Given the description of an element on the screen output the (x, y) to click on. 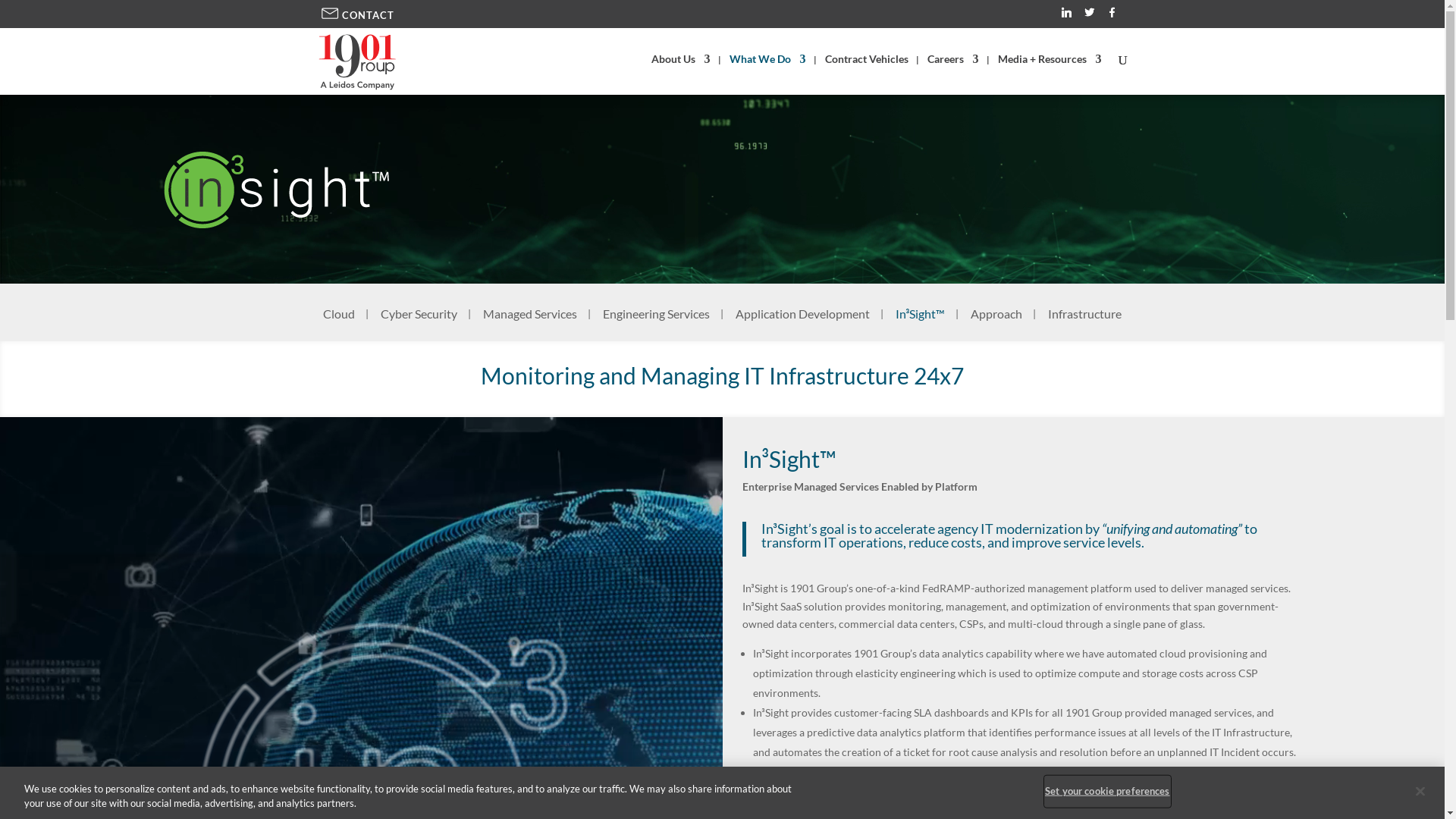
Cloud     Element type: text (343, 324)
Cyber Security     Element type: text (423, 324)
CONTACT Element type: text (356, 15)
Engineering Services     Element type: text (660, 324)
Approach     Element type: text (1000, 324)
Infrastructure Element type: text (1084, 324)
Careers Element type: text (952, 71)
Media + Resources Element type: text (1049, 71)
About Us Element type: text (679, 71)
What We Do Element type: text (767, 71)
Managed Services     Element type: text (534, 324)
Set your cookie preferences Element type: text (1107, 791)
Contract Vehicles Element type: text (866, 71)
Application Development     Element type: text (806, 324)
